Given the description of an element on the screen output the (x, y) to click on. 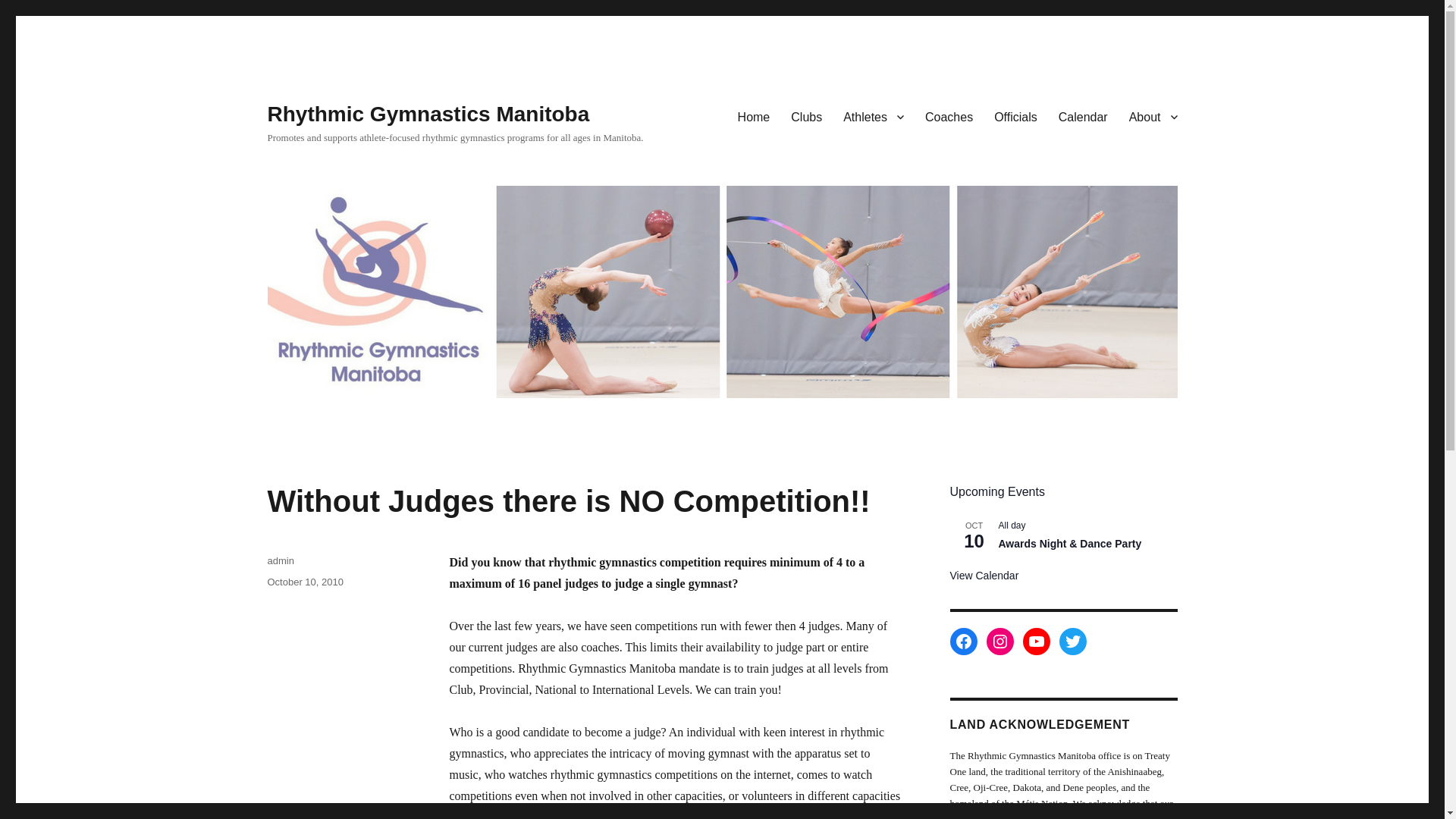
Officials (1016, 116)
October 10, 2010 (304, 582)
View more events. (983, 575)
View Calendar (983, 575)
About (1153, 116)
Athletes (873, 116)
admin (280, 560)
Coaches (949, 116)
Home (753, 116)
Calendar (1083, 116)
